Given the description of an element on the screen output the (x, y) to click on. 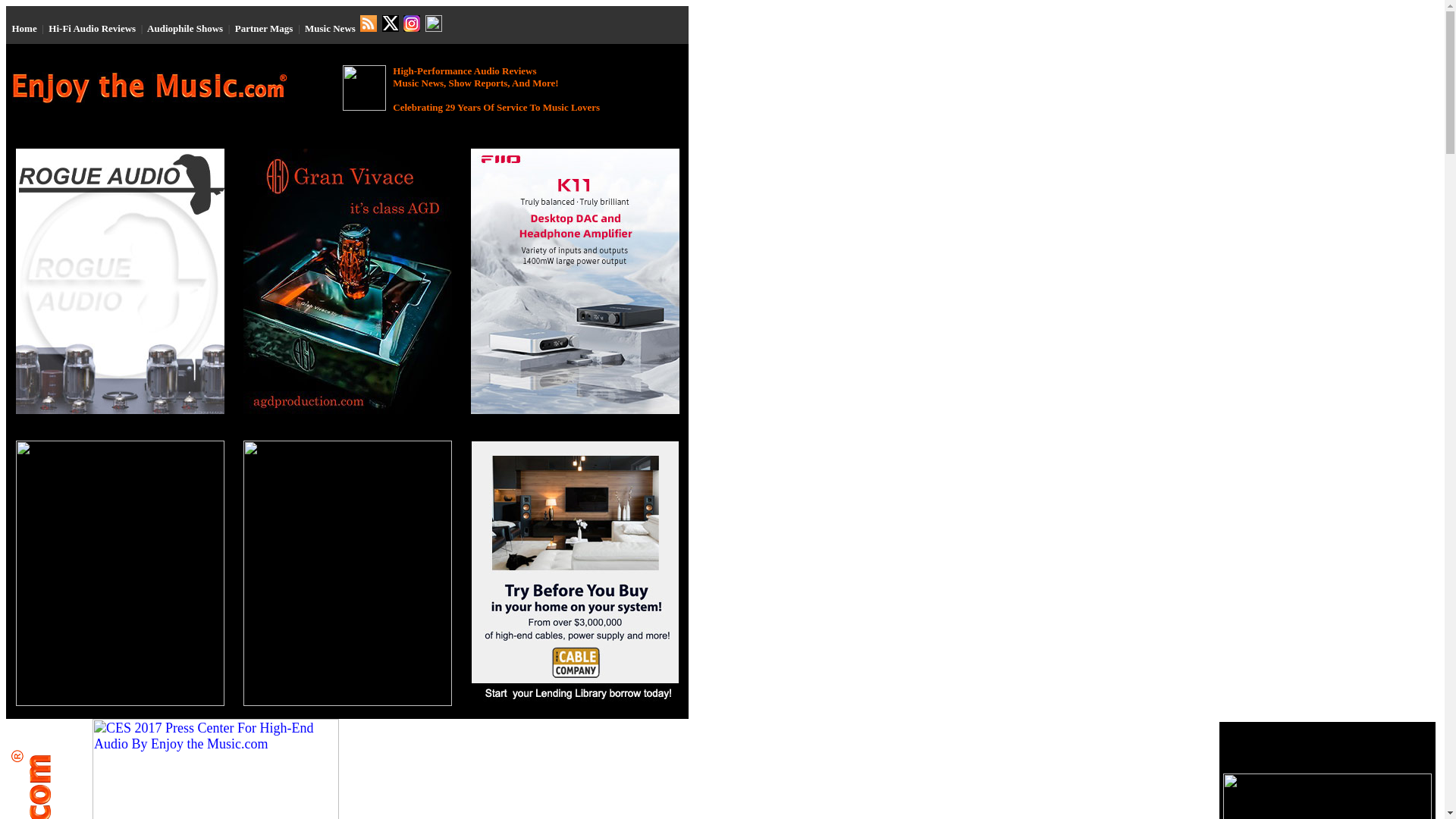
Home (24, 28)
Audiophile Shows (184, 28)
Partner Mags (264, 28)
Music News (329, 28)
Hi-Fi Audio Reviews (91, 28)
